Given the description of an element on the screen output the (x, y) to click on. 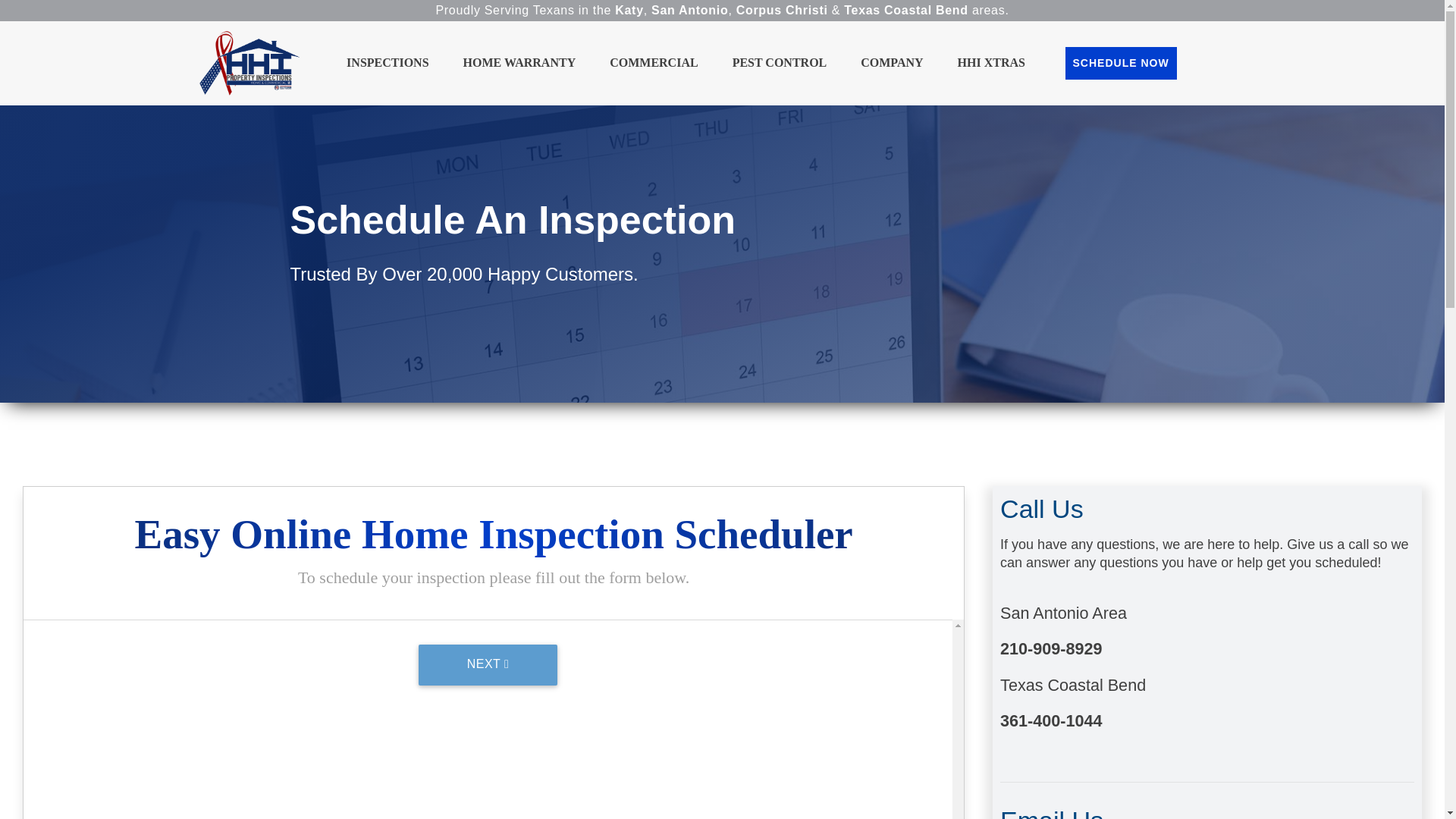
PEST CONTROL (779, 62)
COMPANY (891, 62)
HHI XTRAS (991, 62)
SCHEDULE NOW (1120, 62)
COMMERCIAL (653, 62)
INSPECTIONS (387, 62)
HOME WARRANTY (519, 62)
